Given the description of an element on the screen output the (x, y) to click on. 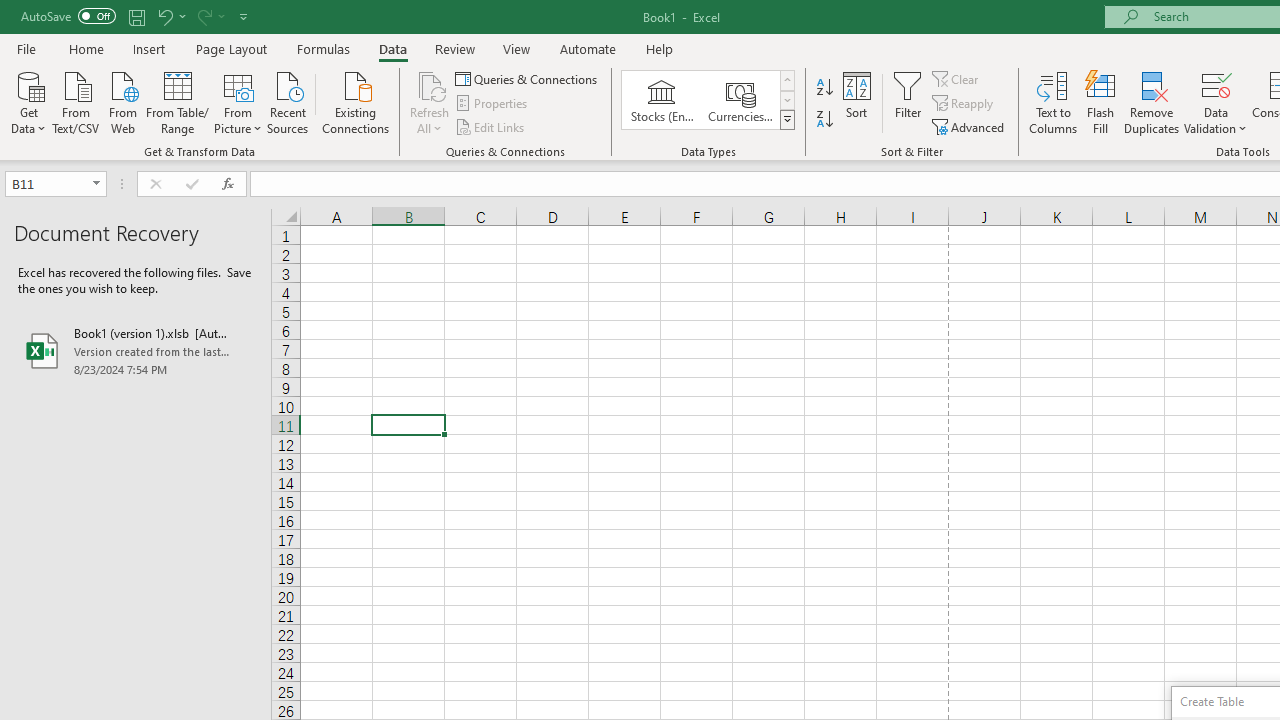
AutomationID: ConvertToLinkedEntity (708, 99)
From Table/Range (177, 101)
Row Down (786, 100)
Automate (588, 48)
Filter (908, 102)
Refresh All (429, 102)
Book1 (version 1).xlsb  [AutoRecovered] (136, 350)
Reapply (964, 103)
Data Types (786, 120)
